Given the description of an element on the screen output the (x, y) to click on. 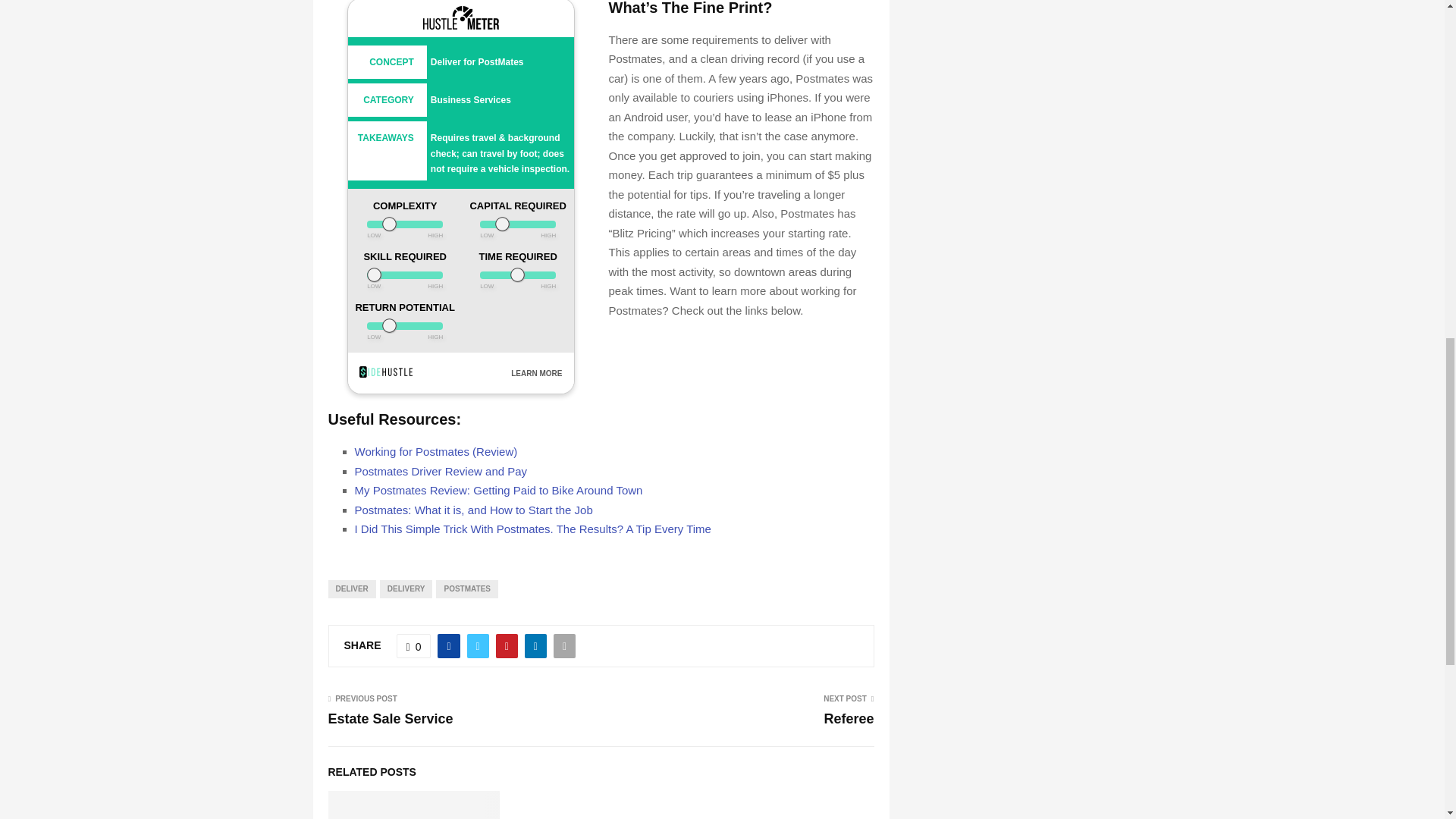
0 (413, 645)
My Postmates Review: Getting Paid to Bike Around Town (499, 490)
LEARN MORE (536, 373)
DELIVERY (406, 588)
Postmates: What it is, and How to Start the Job (473, 509)
POSTMATES (466, 588)
Like (413, 645)
Deliver for PostMates (477, 61)
Postmates Driver Review and Pay (441, 471)
DELIVER (351, 588)
